Given the description of an element on the screen output the (x, y) to click on. 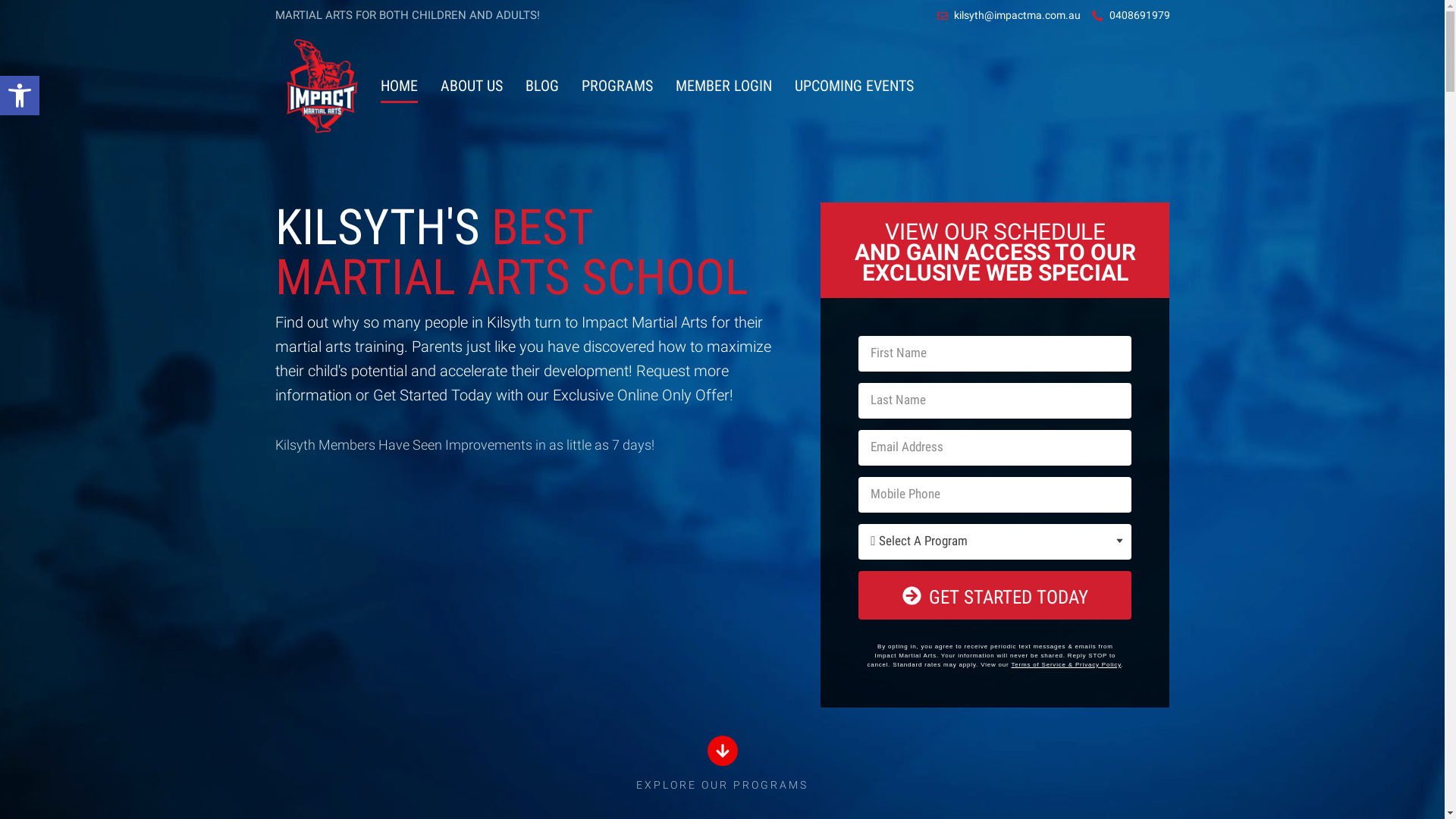
kilsyth@impactma.com.au Element type: text (1009, 15)
PROGRAMS Element type: text (616, 85)
ABOUT US Element type: text (471, 85)
Terms of Service & Privacy Policy Element type: text (1065, 664)
Explore more Element type: hover (721, 751)
UPCOMING EVENTS Element type: text (853, 85)
EXPLORE OUR PROGRAMS Element type: text (722, 784)
BLOG Element type: text (541, 85)
Open toolbar
Accessibility Tools Element type: text (19, 95)
MEMBER LOGIN Element type: text (723, 85)
0408691979 Element type: text (1131, 15)
GET STARTED TODAY Element type: text (994, 595)
HOME Element type: text (398, 85)
